Given the description of an element on the screen output the (x, y) to click on. 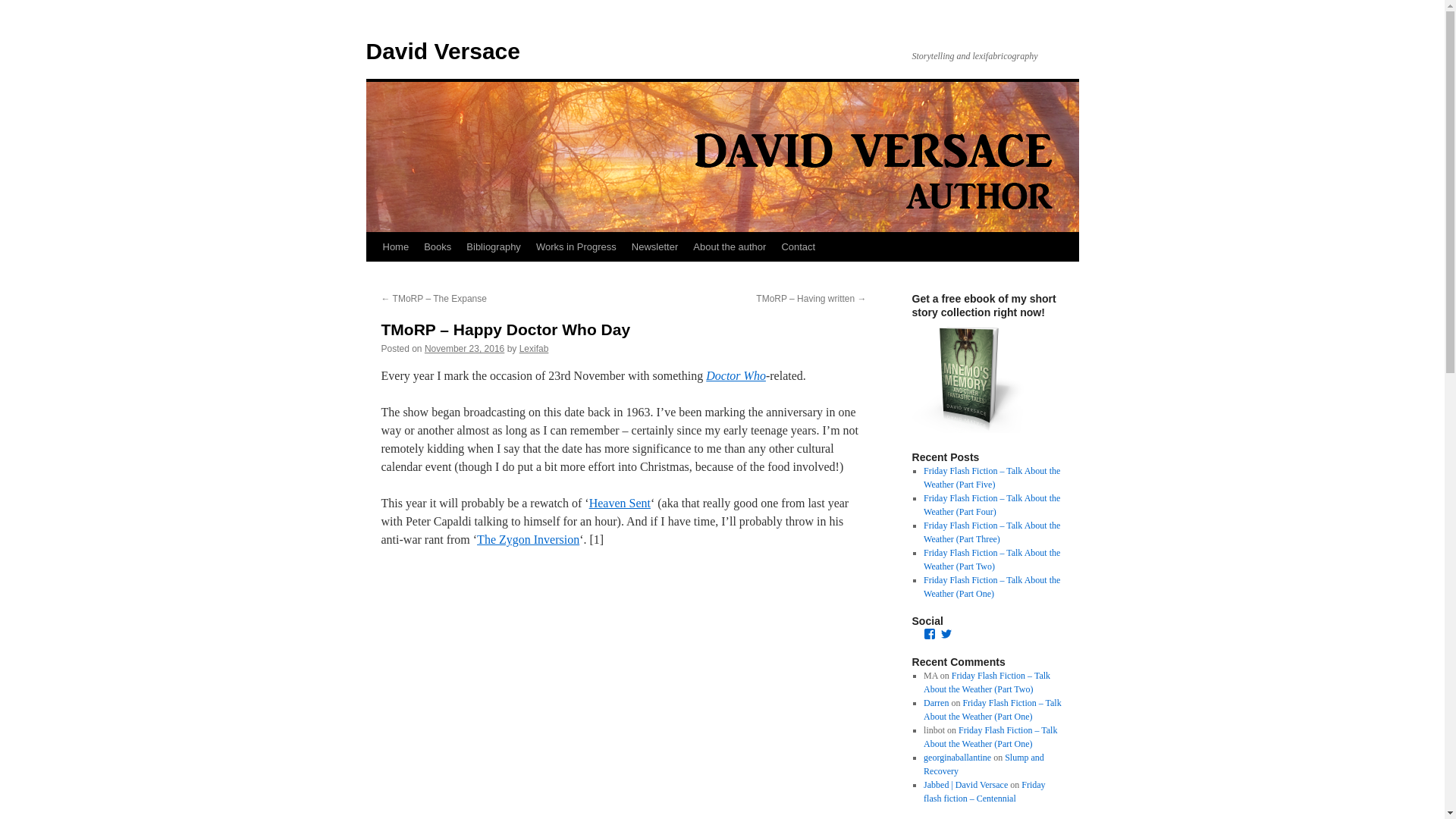
David Versace (442, 50)
Lexifab (533, 348)
View all posts by Lexifab (533, 348)
November 23, 2016 (464, 348)
Doctor Who (735, 375)
Newsletter (654, 246)
Books (437, 246)
9:20 pm (464, 348)
Bibliography (493, 246)
The Zygon Inversion (528, 539)
About the author (729, 246)
Home (395, 246)
Heaven Sent (619, 502)
Contact (797, 246)
Works in Progress (576, 246)
